Given the description of an element on the screen output the (x, y) to click on. 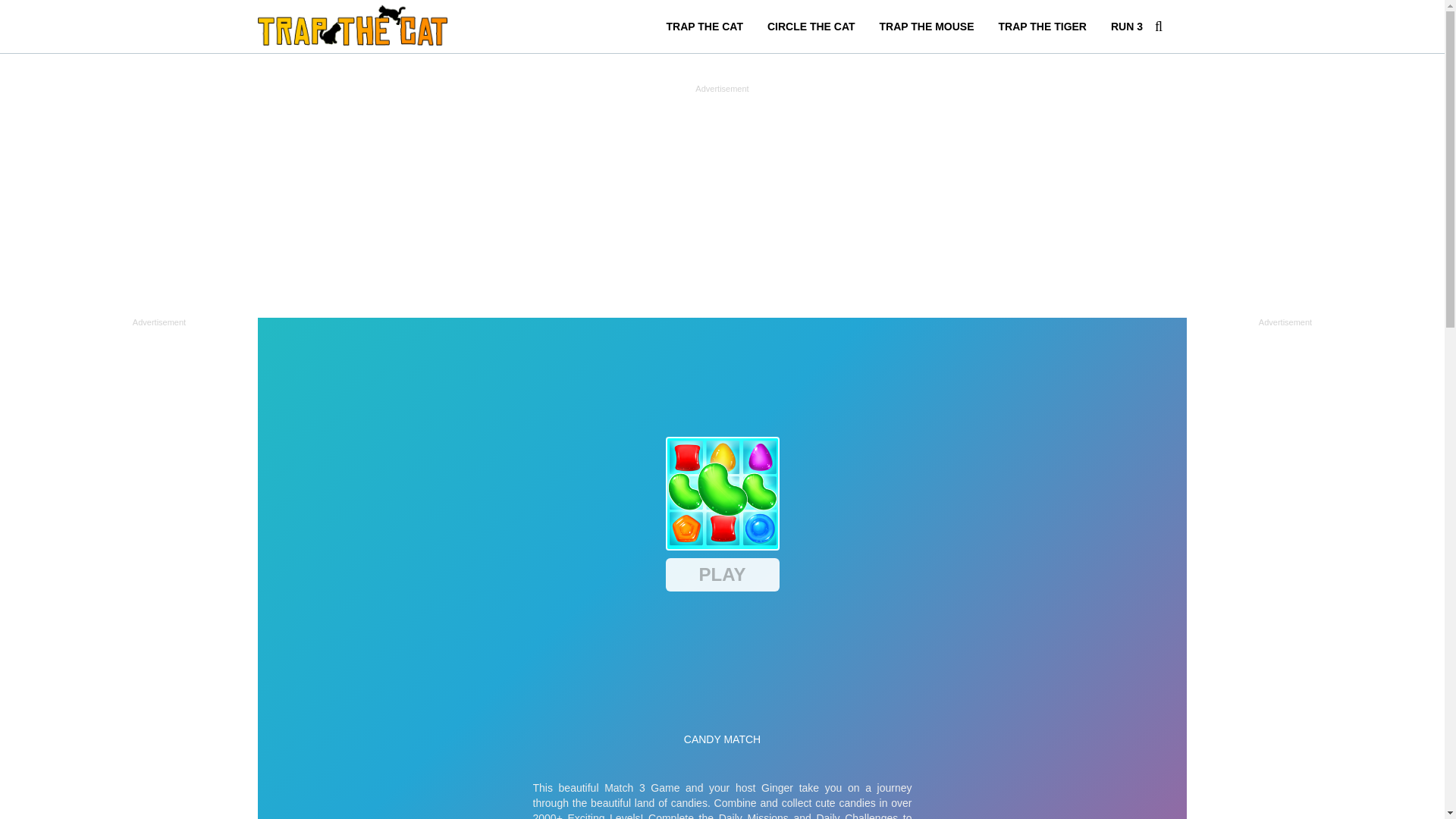
Trap The Cat (351, 24)
CIRCLE THE CAT (811, 25)
TRAP THE CAT (704, 25)
TRAP THE TIGER (1043, 25)
RUN 3 (1126, 25)
TRAP THE MOUSE (927, 25)
